Given the description of an element on the screen output the (x, y) to click on. 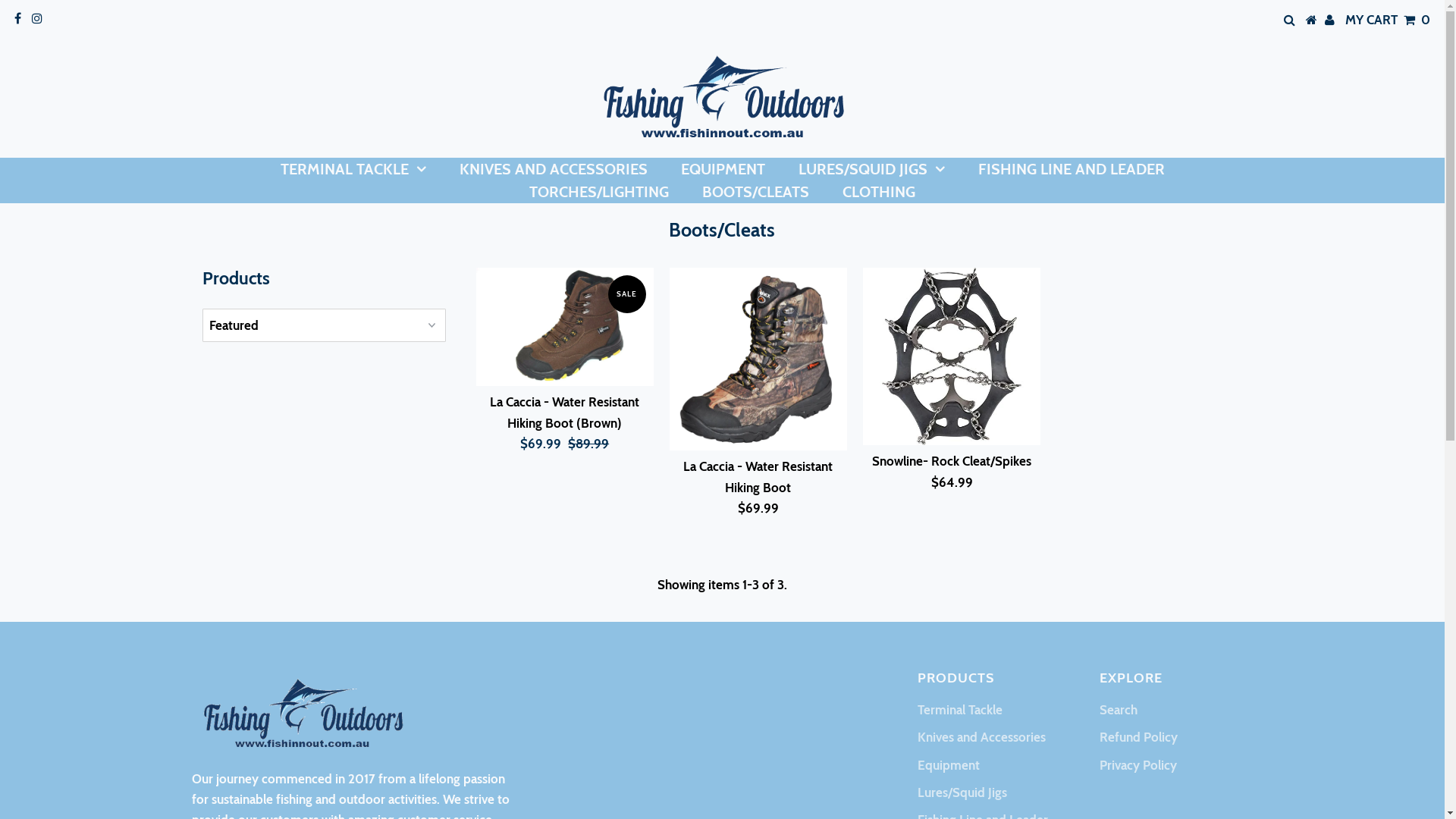
Privacy Policy Element type: text (1137, 764)
BOOTS/CLEATS Element type: text (755, 191)
La Caccia - Water Resistant Hiking Boot Element type: text (757, 476)
La Caccia - Water Resistant Hiking Boot (Brown) Element type: text (564, 411)
Knives and Accessories Element type: text (981, 736)
Equipment Element type: text (948, 764)
Snowline- Rock Cleat/Spikes Element type: hover (951, 356)
La Caccia - Water Resistant Hiking Boot Element type: hover (758, 358)
TERMINAL TACKLE Element type: text (353, 168)
FISHING LINE AND LEADER Element type: text (1071, 168)
LURES/SQUID JIGS Element type: text (870, 168)
CLOTHING Element type: text (878, 191)
MY CART    0 Element type: text (1387, 19)
KNIVES AND ACCESSORIES Element type: text (553, 168)
EQUIPMENT Element type: text (722, 168)
TORCHES/LIGHTING Element type: text (599, 191)
La Caccia - Water Resistant Hiking Boot (Brown) Element type: hover (564, 326)
Refund Policy Element type: text (1138, 736)
Search Element type: text (1118, 709)
Snowline- Rock Cleat/Spikes Element type: text (951, 460)
Lures/Squid Jigs Element type: text (962, 792)
Terminal Tackle Element type: text (959, 709)
